Given the description of an element on the screen output the (x, y) to click on. 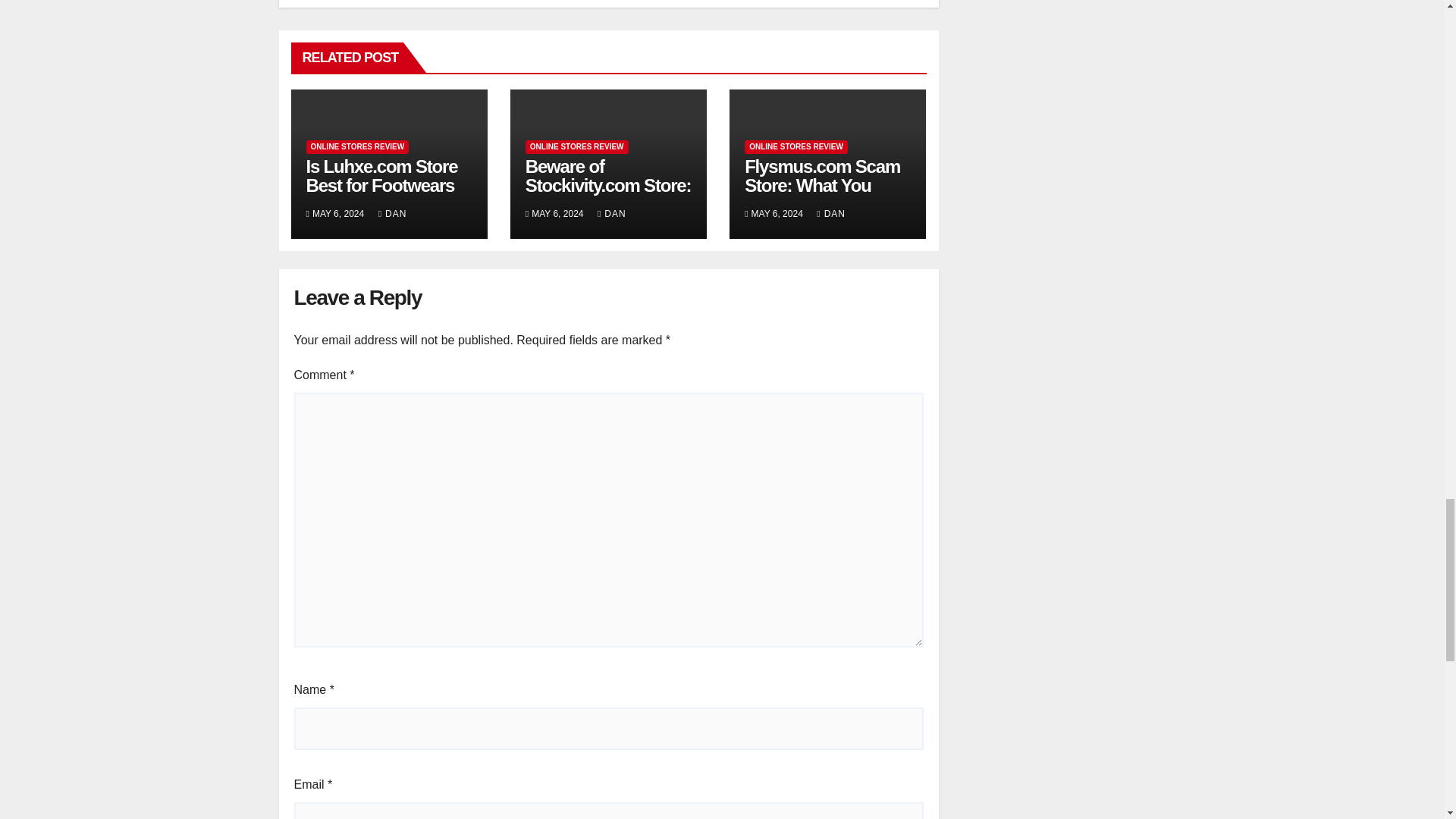
ONLINE STORES REVIEW (576, 146)
Is Luhxe.com Store Best for Footwears Or Scam? Find Out (381, 185)
ONLINE STORES REVIEW (357, 146)
DAN (392, 213)
DAN (611, 213)
Beware of Stockivity.com Store: Scam Clothing Website (607, 194)
